Given the description of an element on the screen output the (x, y) to click on. 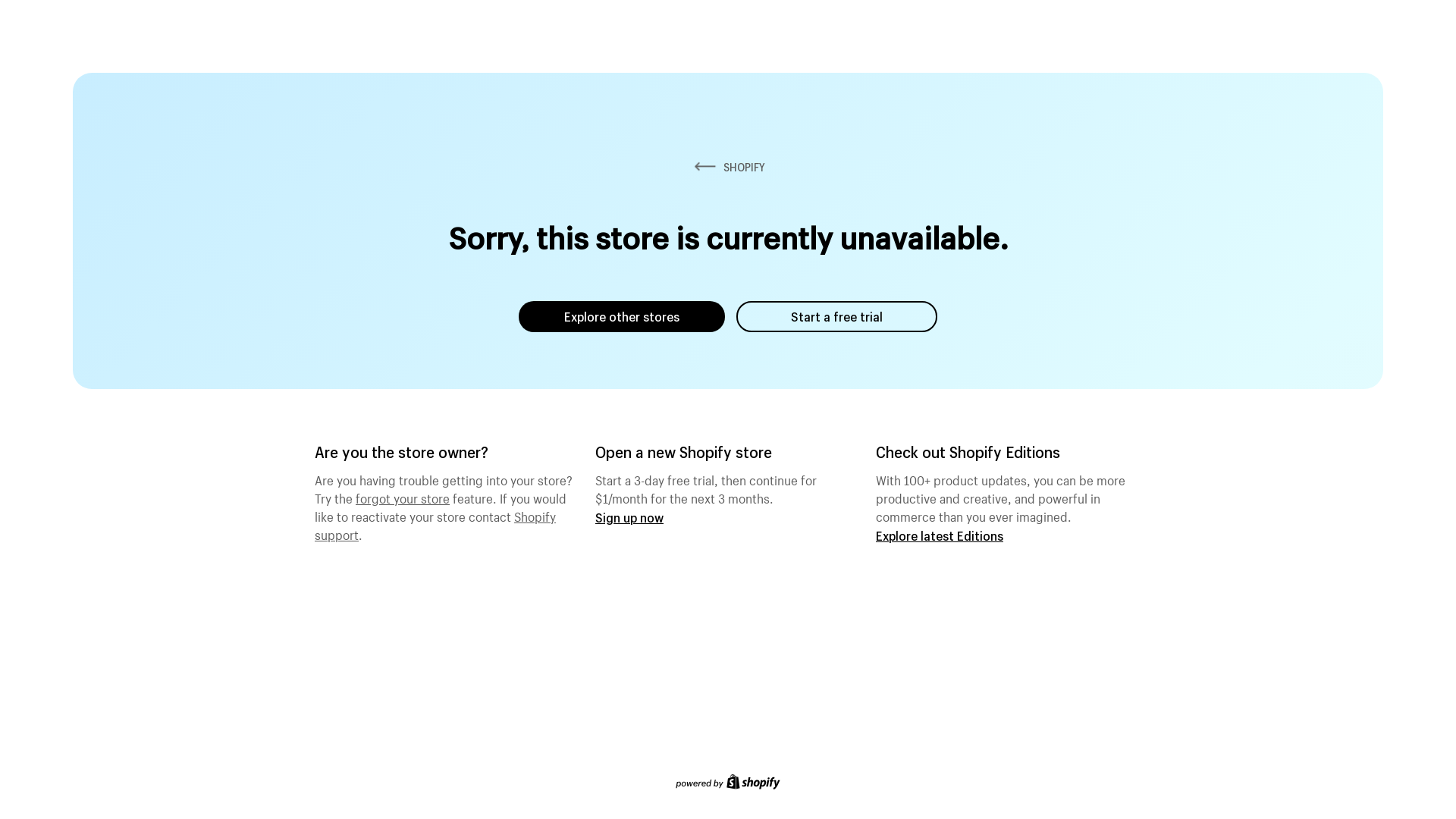
Explore other stores Element type: text (621, 316)
SHOPIFY Element type: text (727, 167)
Shopify support Element type: text (434, 523)
Sign up now Element type: text (629, 517)
Explore latest Editions Element type: text (939, 535)
Start a free trial Element type: text (836, 316)
forgot your store Element type: text (402, 496)
